Given the description of an element on the screen output the (x, y) to click on. 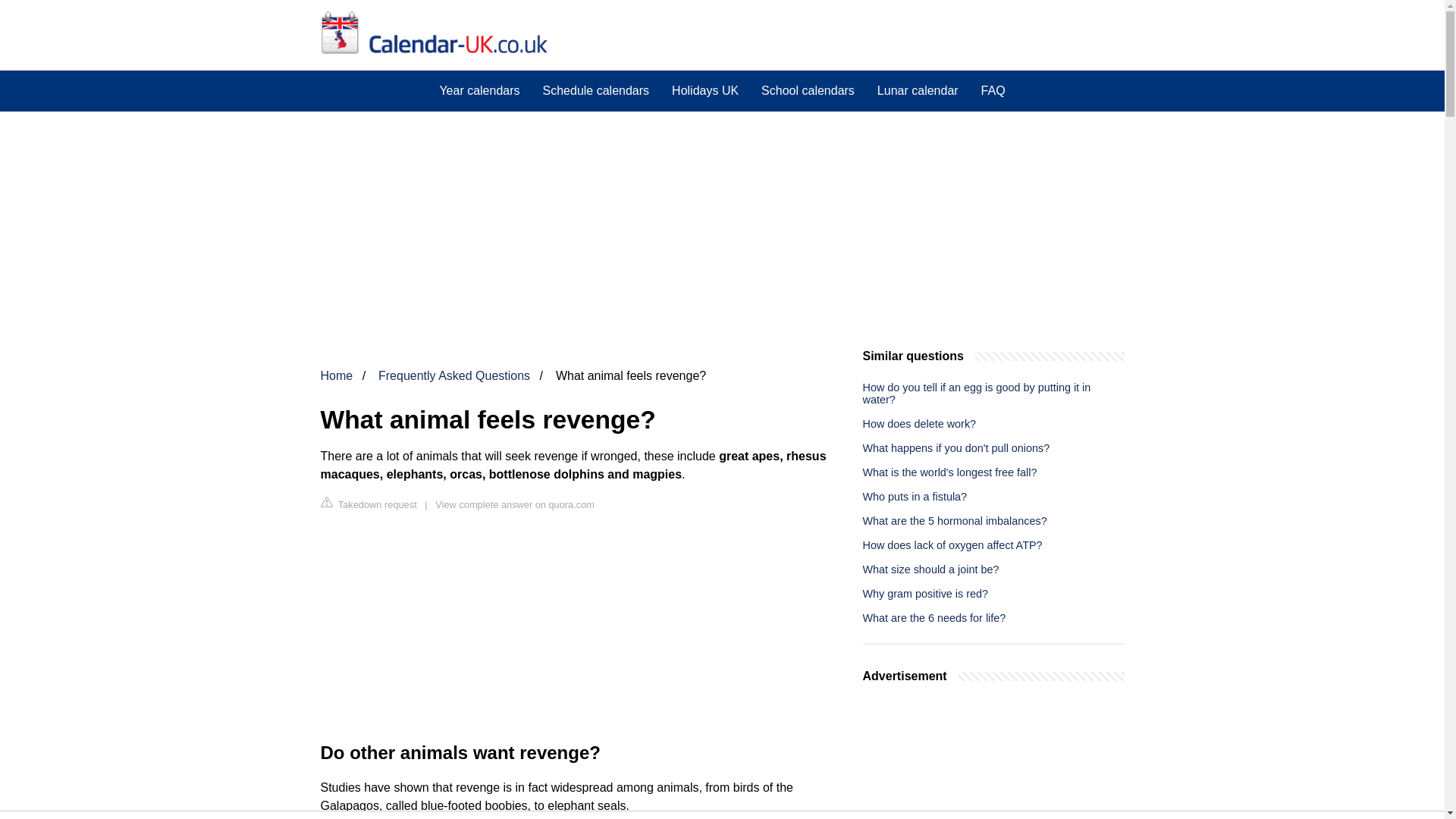
Home (336, 375)
Frequently Asked Questions (453, 375)
Schedule calendars (596, 90)
Year calendars (479, 90)
School calendars (807, 90)
FAQ (992, 90)
View complete answer on quora.com (514, 504)
Lunar calendar (917, 90)
Holidays UK (705, 90)
Takedown request (368, 503)
